Given the description of an element on the screen output the (x, y) to click on. 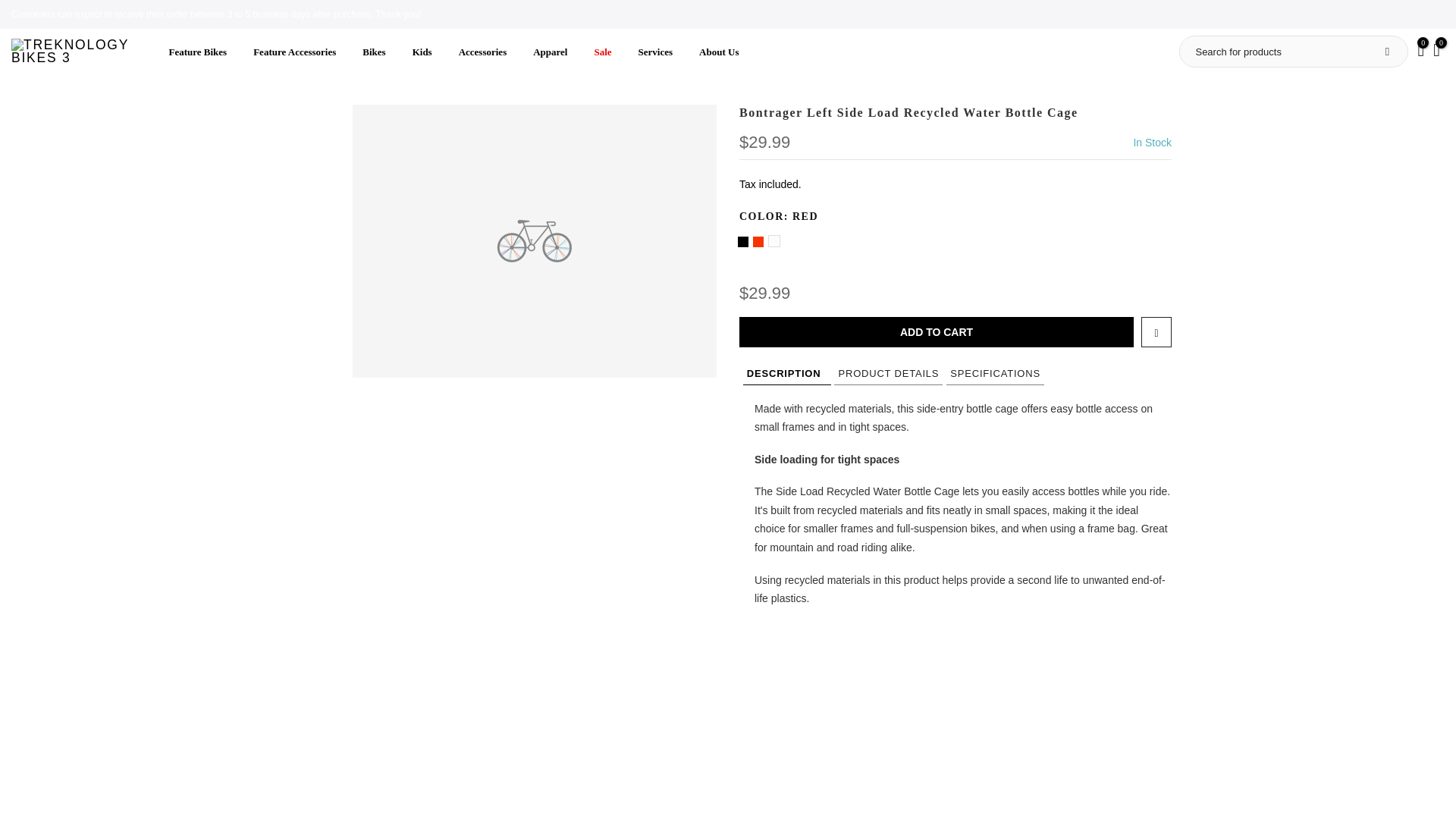
Bikes (373, 51)
Feature Bikes (197, 51)
Accessories (482, 51)
Kids (421, 51)
Feature Accessories (294, 51)
